Given the description of an element on the screen output the (x, y) to click on. 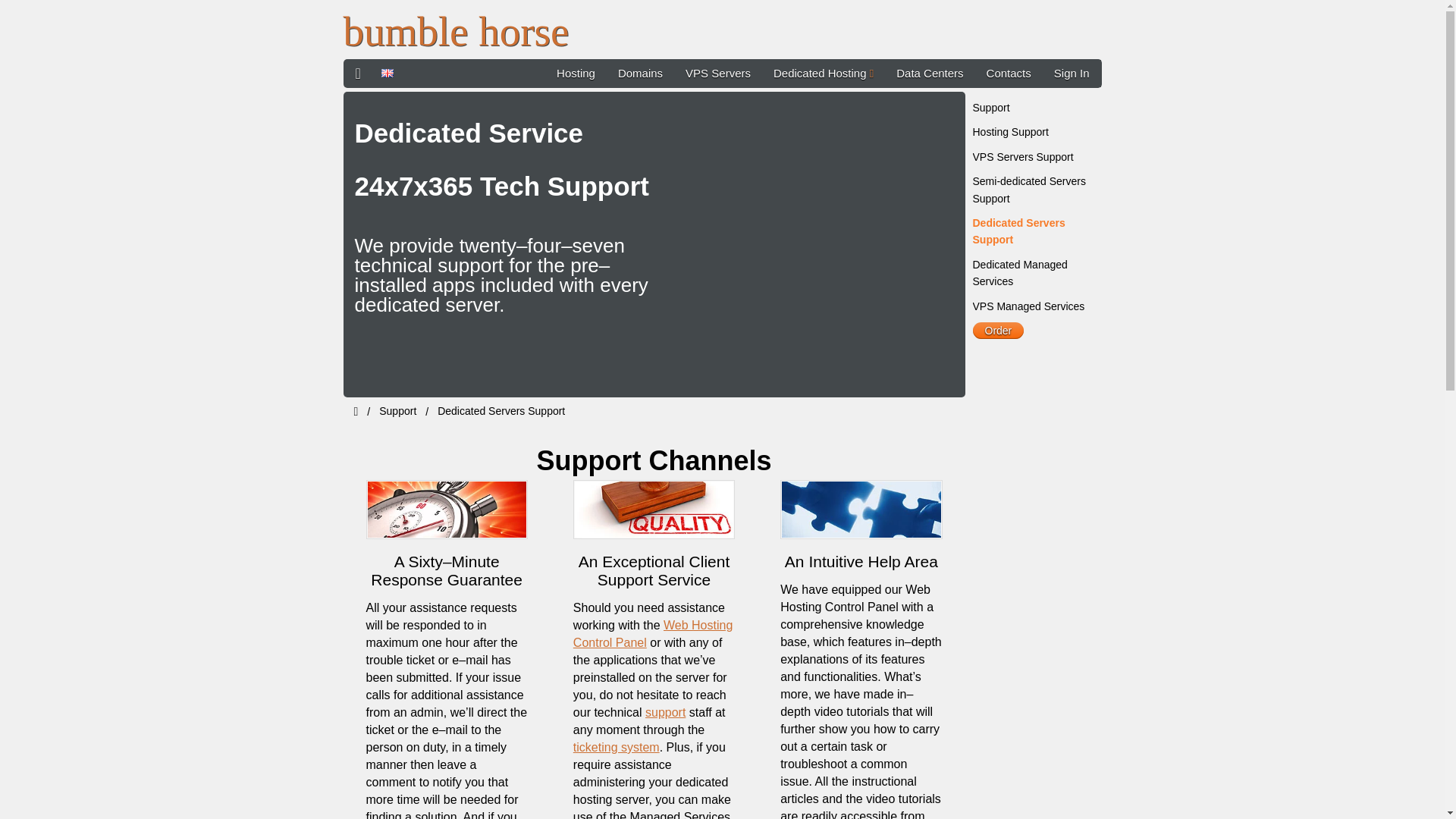
bumble horse (455, 31)
Support (397, 410)
Hosting Support (1010, 132)
VPS Managed Services (1028, 306)
Support (990, 107)
ticketing system (616, 747)
Web Hosting Control Panel (652, 634)
Contacts (1008, 72)
Dedicated Servers Support (501, 410)
Sign In (1071, 72)
